Given the description of an element on the screen output the (x, y) to click on. 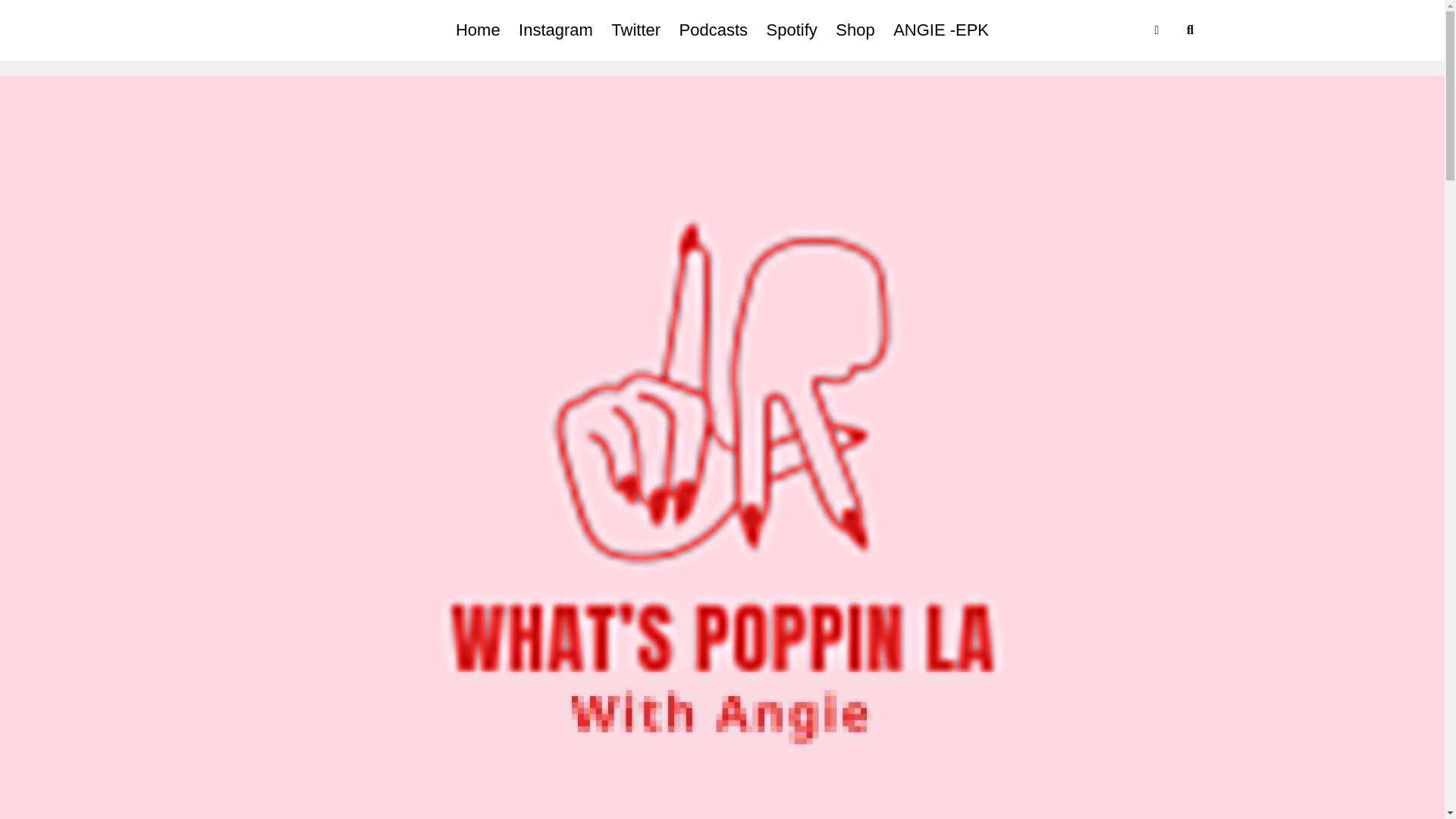
Home (478, 30)
Twitter (636, 30)
Instagram (555, 30)
Spotify (791, 30)
Podcasts (713, 30)
ANGIE -EPK (940, 30)
